Given the description of an element on the screen output the (x, y) to click on. 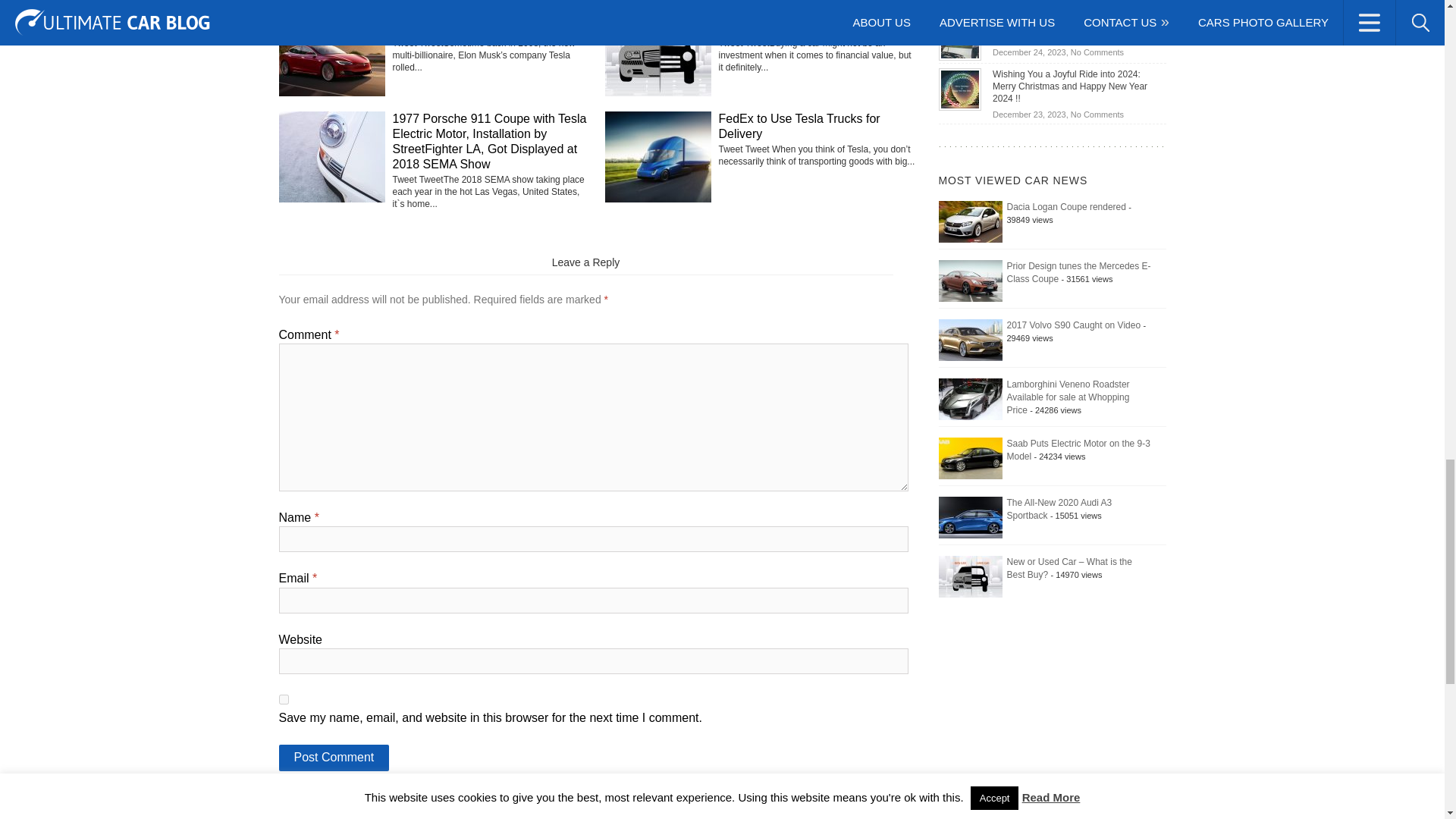
yes (283, 699)
Post Comment (334, 757)
